Given the description of an element on the screen output the (x, y) to click on. 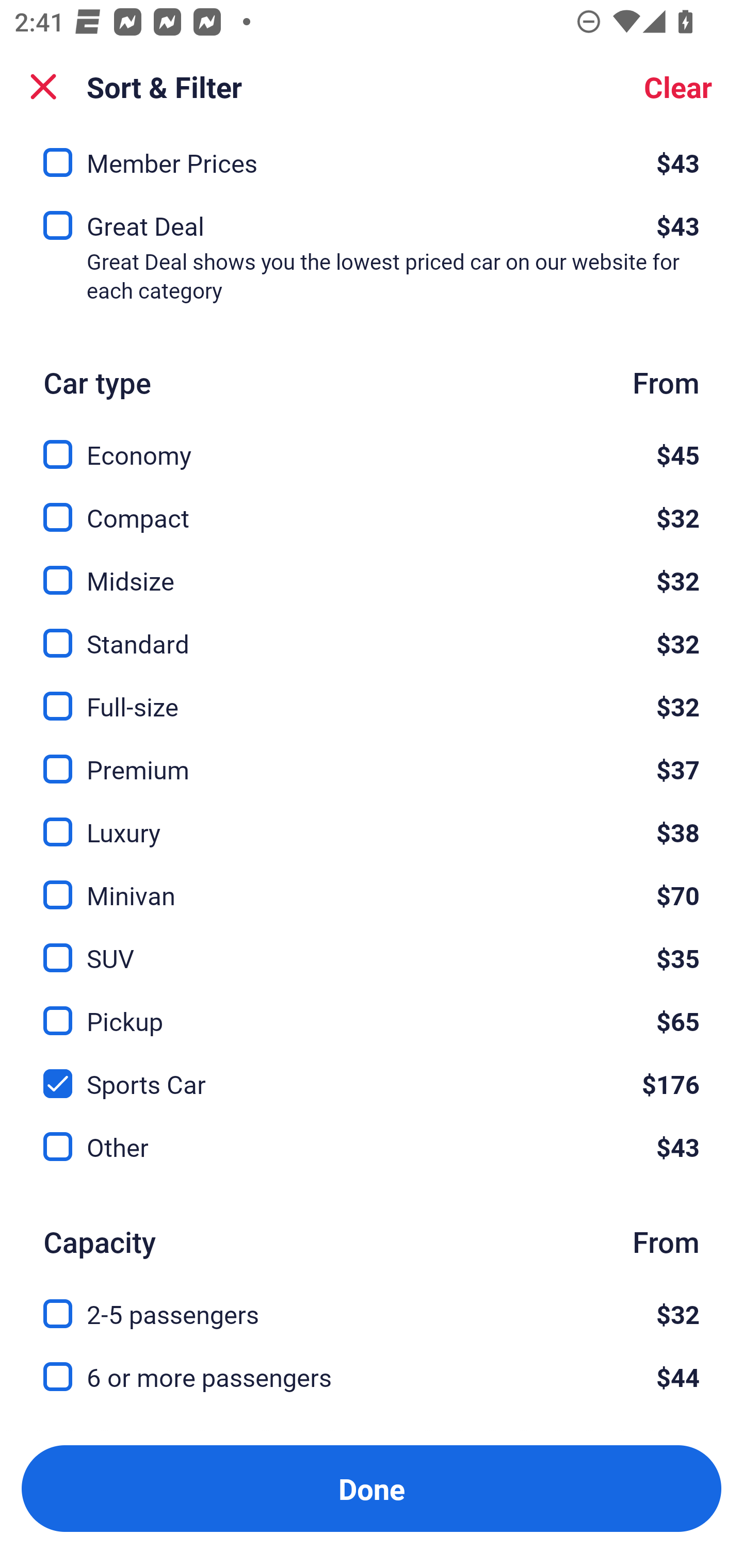
Close Sort and Filter (43, 86)
Clear (677, 86)
Member Prices, $43 Member Prices $43 (371, 162)
Economy, $45 Economy $45 (371, 442)
Compact, $32 Compact $32 (371, 506)
Midsize, $32 Midsize $32 (371, 568)
Standard, $32 Standard $32 (371, 631)
Full-size, $32 Full-size $32 (371, 694)
Premium, $37 Premium $37 (371, 756)
Luxury, $38 Luxury $38 (371, 819)
Minivan, $70 Minivan $70 (371, 883)
SUV, $35 SUV $35 (371, 946)
Pickup, $65 Pickup $65 (371, 1009)
Sports Car, $176 Sports Car $176 (371, 1072)
Other, $43 Other $43 (371, 1146)
2-5 passengers, $32 2-5 passengers $32 (371, 1302)
6 or more passengers, $44 6 or more passengers $44 (371, 1377)
Apply and close Sort and Filter Done (371, 1488)
